Given the description of an element on the screen output the (x, y) to click on. 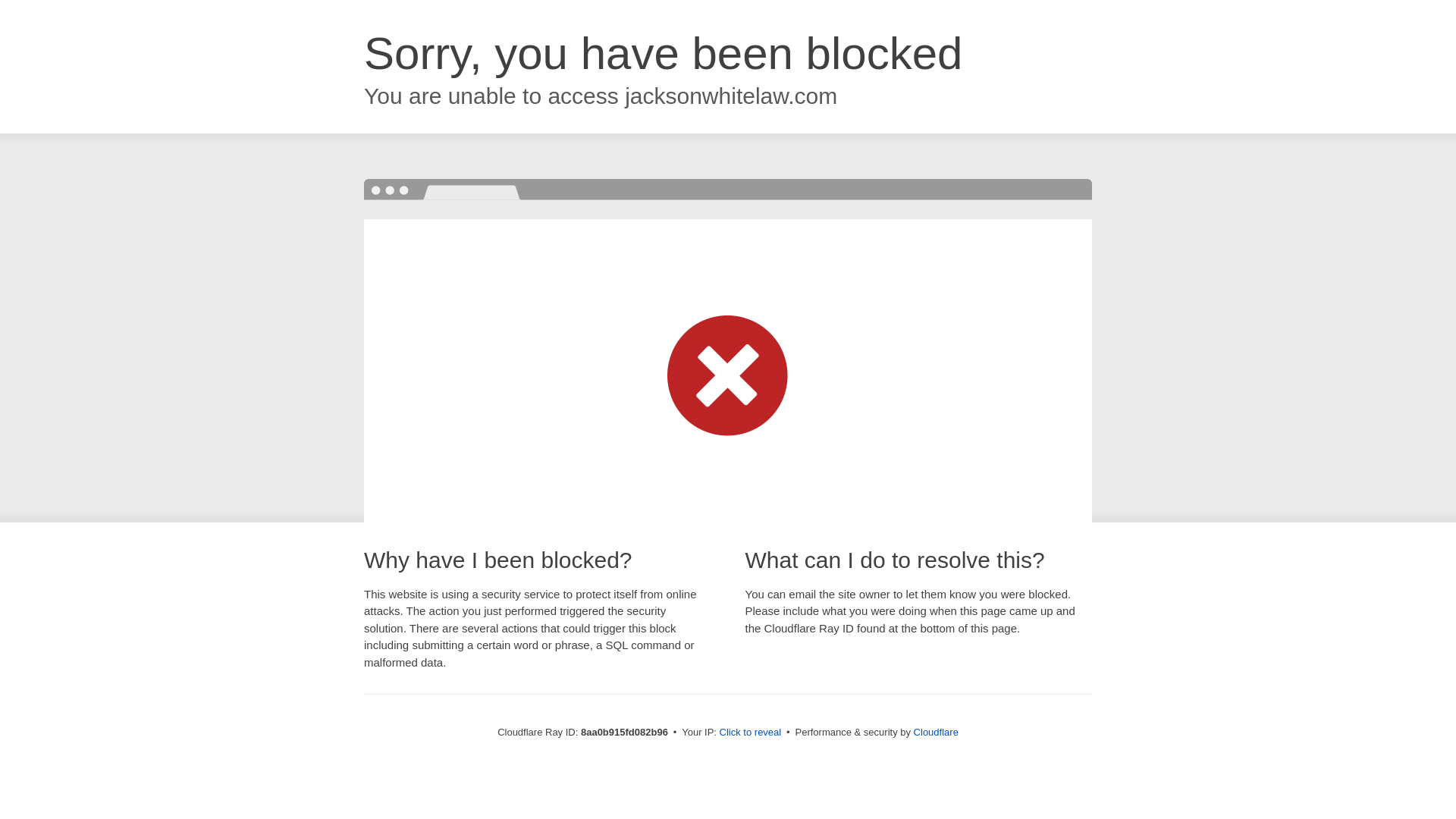
Cloudflare (936, 731)
Click to reveal (750, 732)
